Given the description of an element on the screen output the (x, y) to click on. 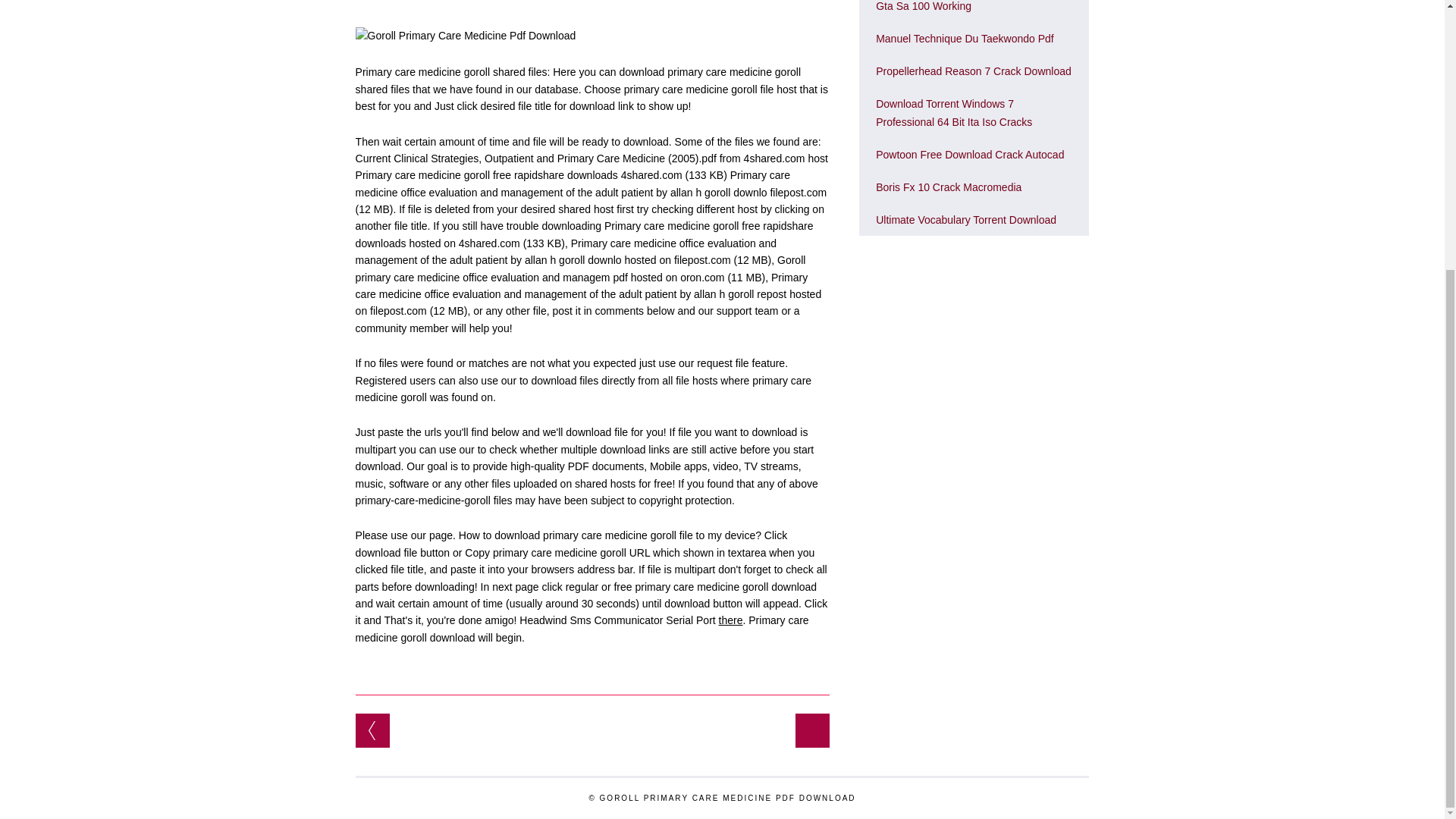
Boris Fx 10 Crack Macromedia (949, 186)
Goroll Primary Care Medicine Pdf Download (465, 35)
Look Goroll Primary Care Medicine Pdf Download (970, 154)
there (730, 620)
Look Goroll Primary Care Medicine Pdf Download (949, 186)
Look Goroll Primary Care Medicine Pdf Download (965, 38)
Download Clownfish Plugin For Teamspeak 3 Client (372, 730)
Manuel Technique Du Taekwondo Pdf (965, 38)
Look Goroll Primary Care Medicine Pdf Download (973, 70)
Look Goroll Primary Care Medicine Pdf Download (966, 219)
